Given the description of an element on the screen output the (x, y) to click on. 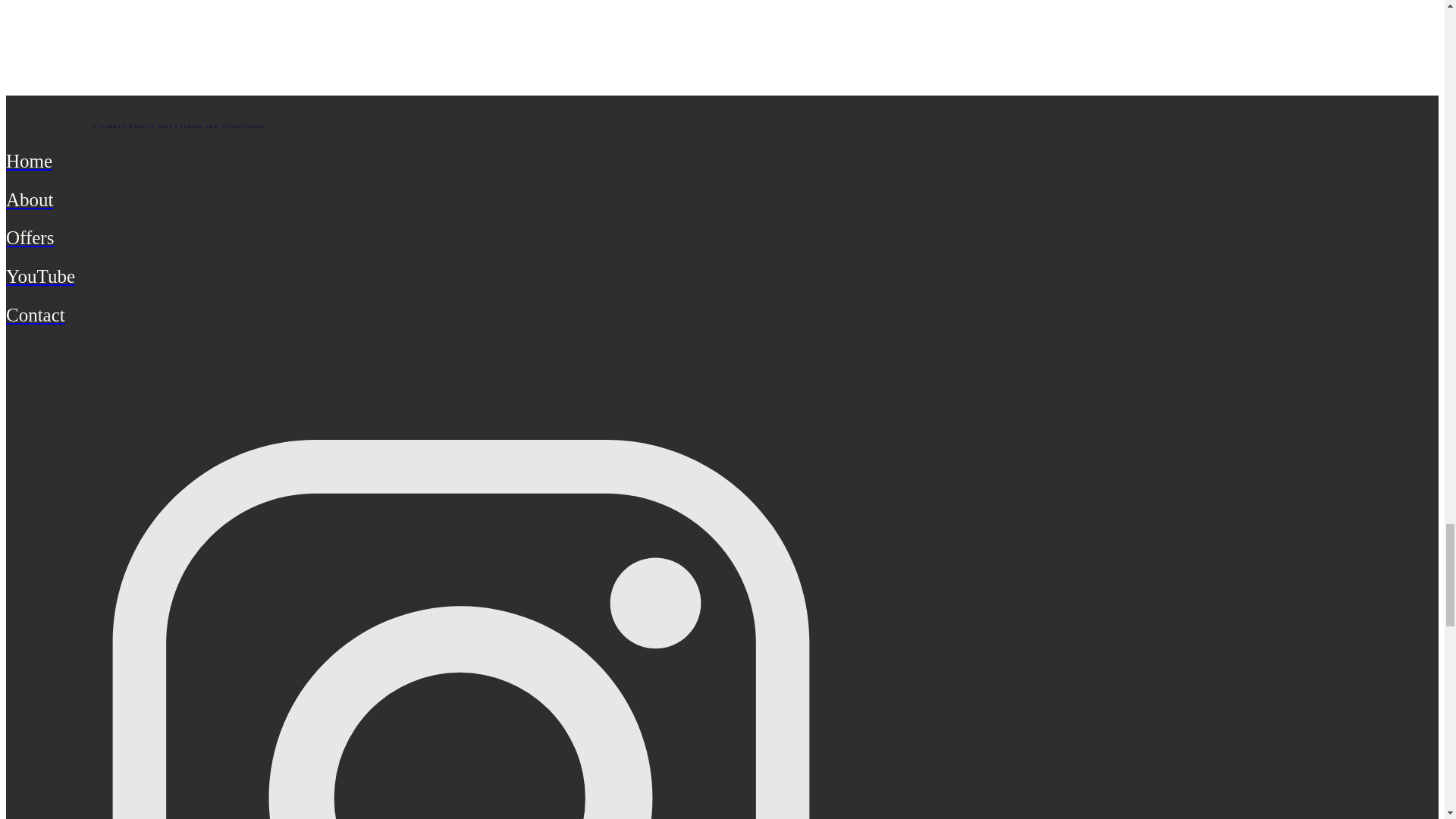
Home (460, 160)
Contact (460, 314)
YouTube (460, 276)
Offers (460, 237)
About (460, 200)
